Given the description of an element on the screen output the (x, y) to click on. 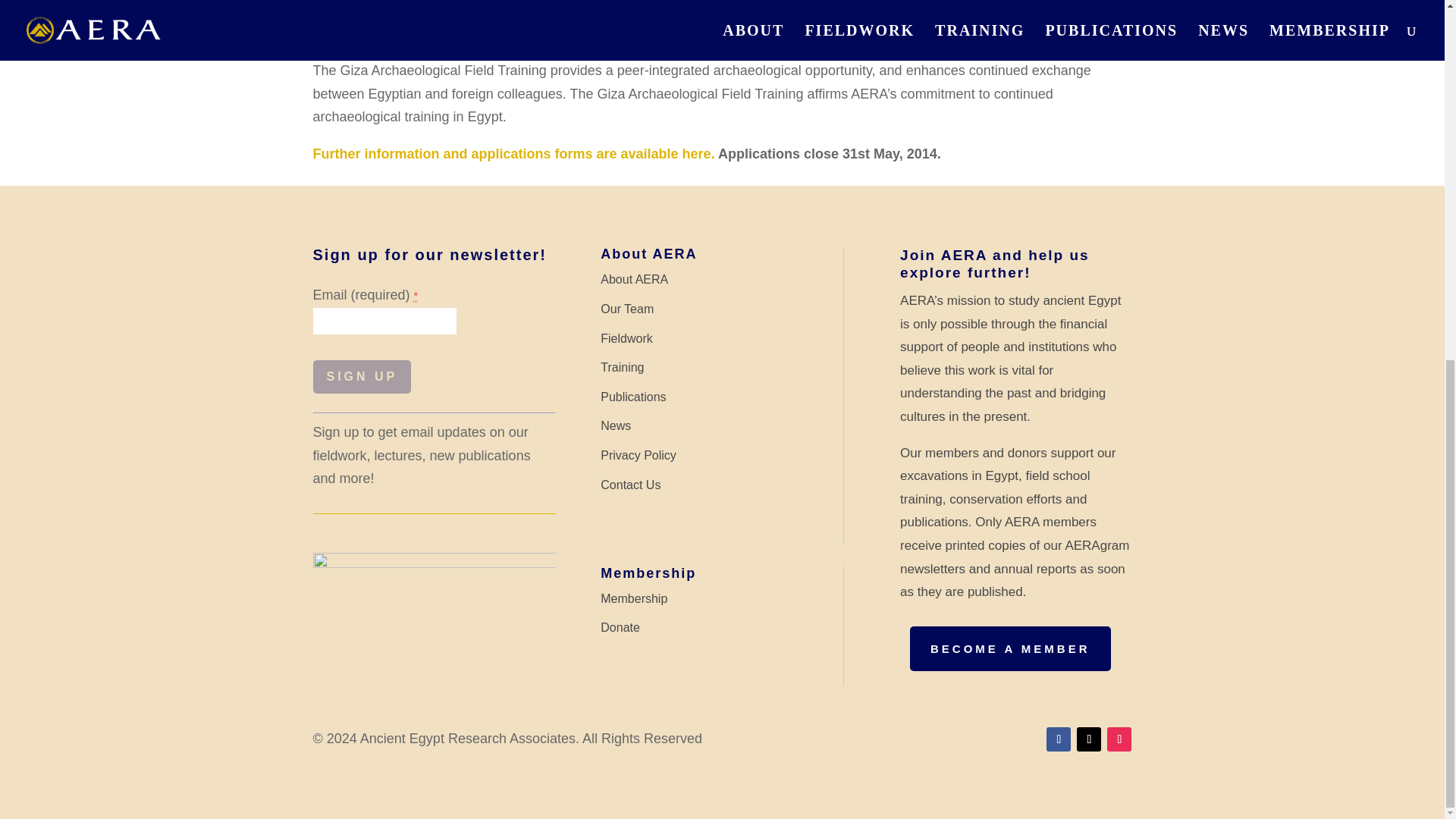
Contact Us (630, 484)
SIGN UP (361, 376)
Training (621, 367)
BECOME A MEMBER (1010, 648)
Follow on Facebook (1058, 739)
About AERA (633, 278)
Privacy Policy (638, 454)
Publications (632, 396)
Follow on Instagram (1118, 739)
